Given the description of an element on the screen output the (x, y) to click on. 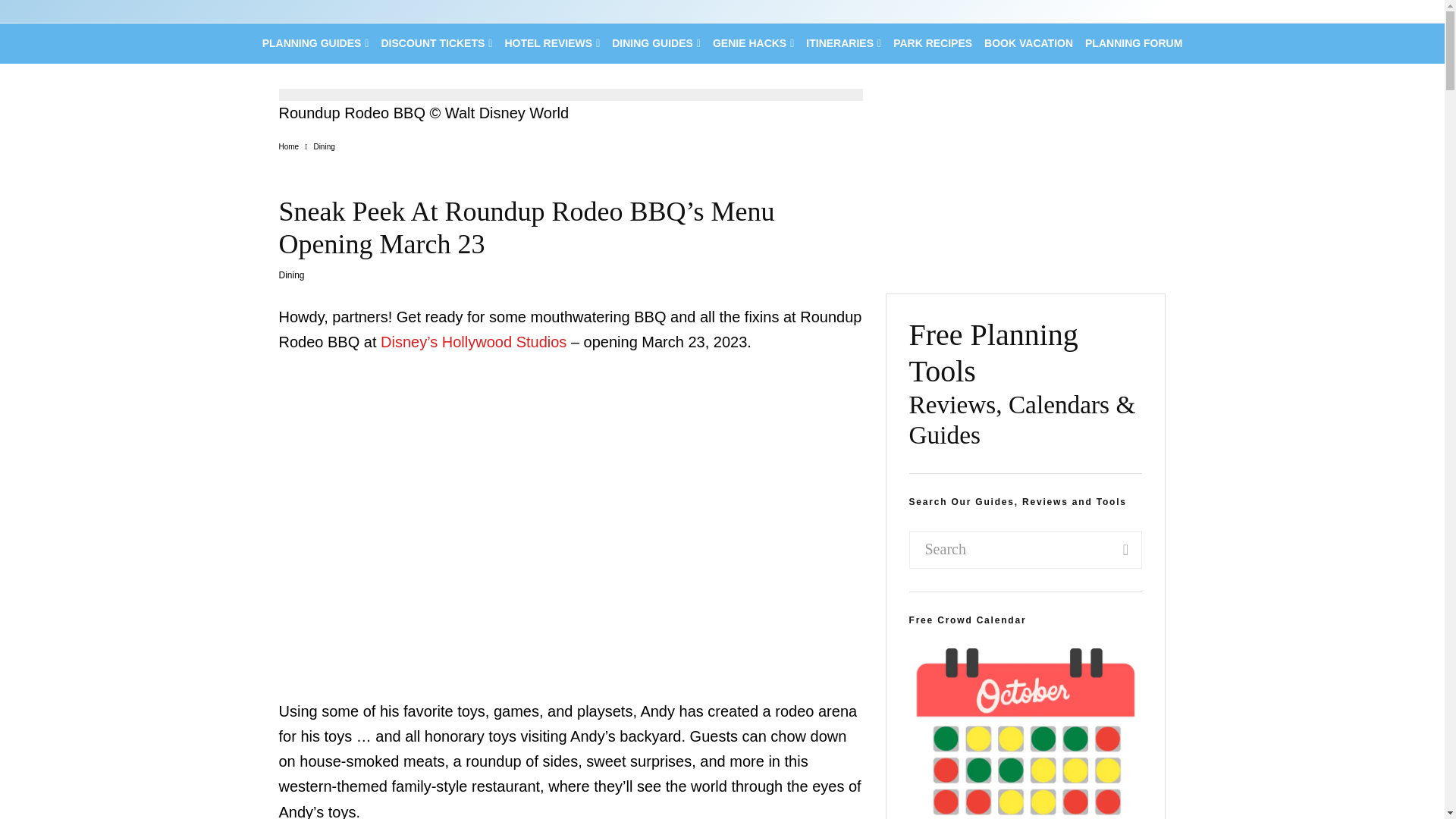
BOOK VACATION (1028, 43)
Sneak Peek At Roundup Rodeo BBQ's Menu Opening March 23 1 (571, 94)
ITINERARIES (842, 43)
DISCOUNT TICKETS (435, 43)
PLANNING FORUM (1133, 43)
HOTEL REVIEWS (551, 43)
DINING GUIDES (655, 43)
GENIE HACKS (752, 43)
PARK RECIPES (932, 43)
PLANNING GUIDES (315, 43)
